Given the description of an element on the screen output the (x, y) to click on. 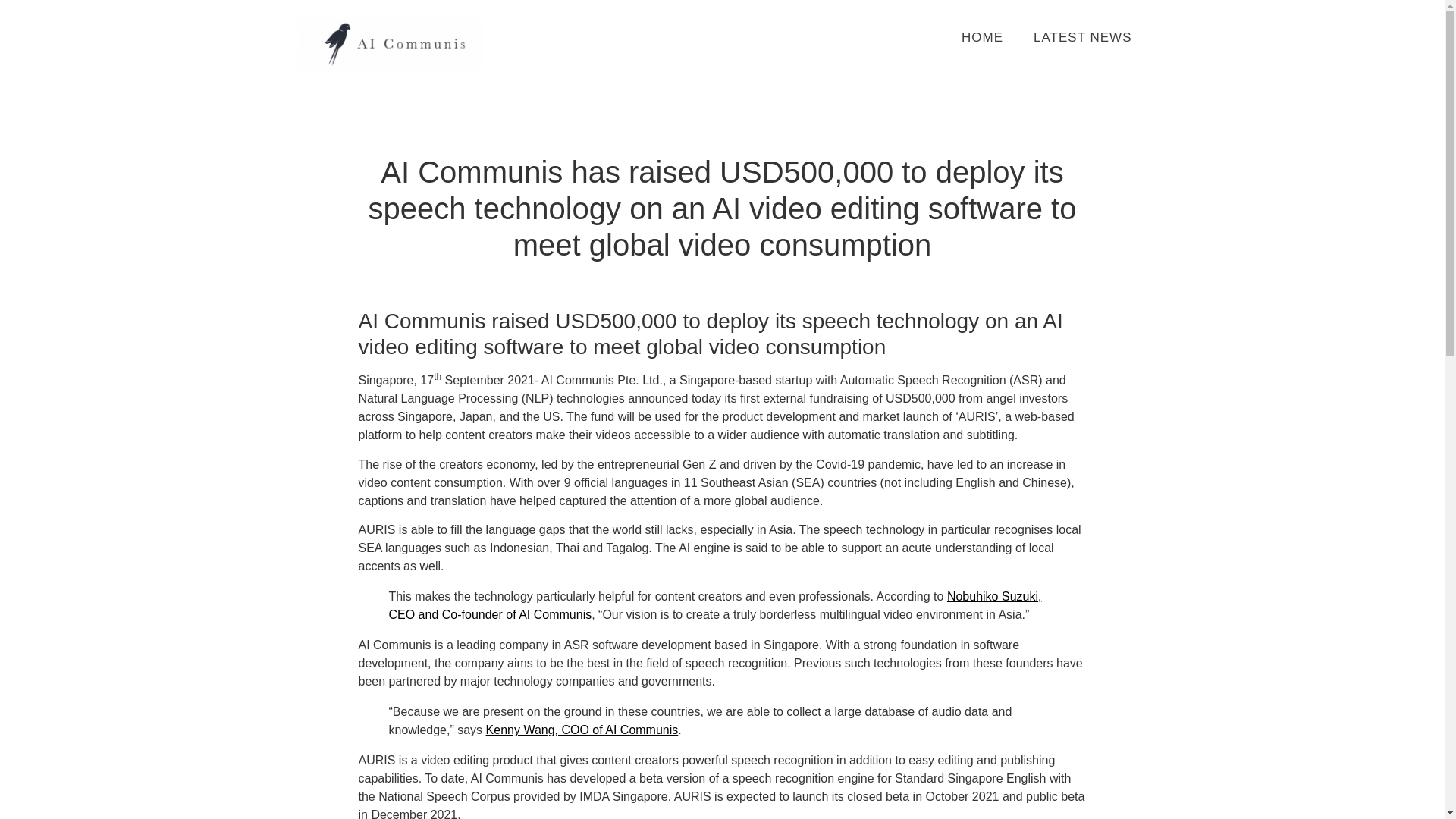
Nobuhiko Suzuki, CEO and Co-founder of AI Communis (714, 604)
Kenny Wang, COO of AI Communis (582, 729)
LATEST NEWS (1082, 37)
HOME (981, 37)
